Given the description of an element on the screen output the (x, y) to click on. 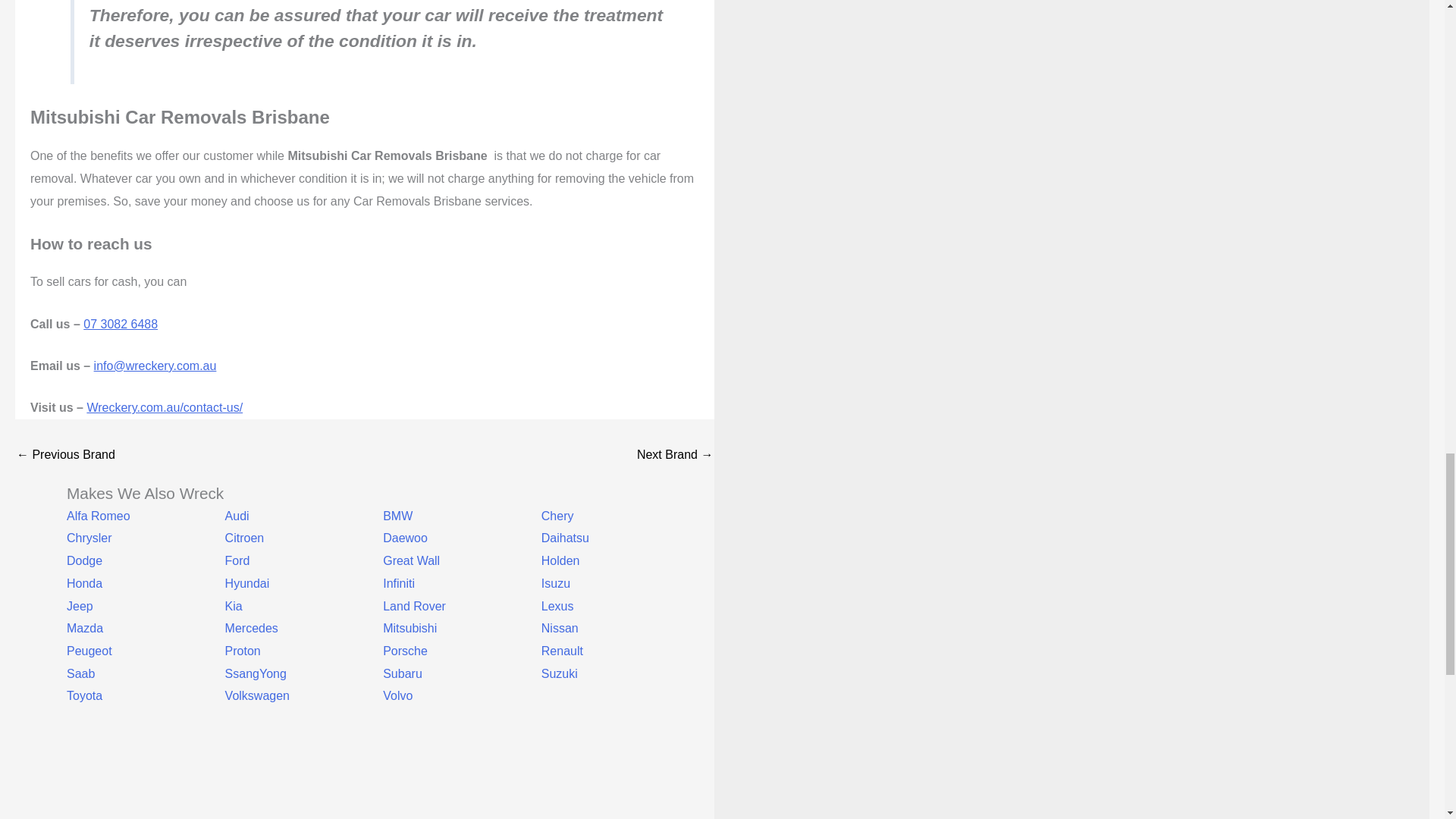
07 3082 6488 (119, 323)
Mercedes Wreckers Brisbane (675, 454)
Nissan Wreckers Brisbane (65, 454)
Call Us (128, 762)
